Given the description of an element on the screen output the (x, y) to click on. 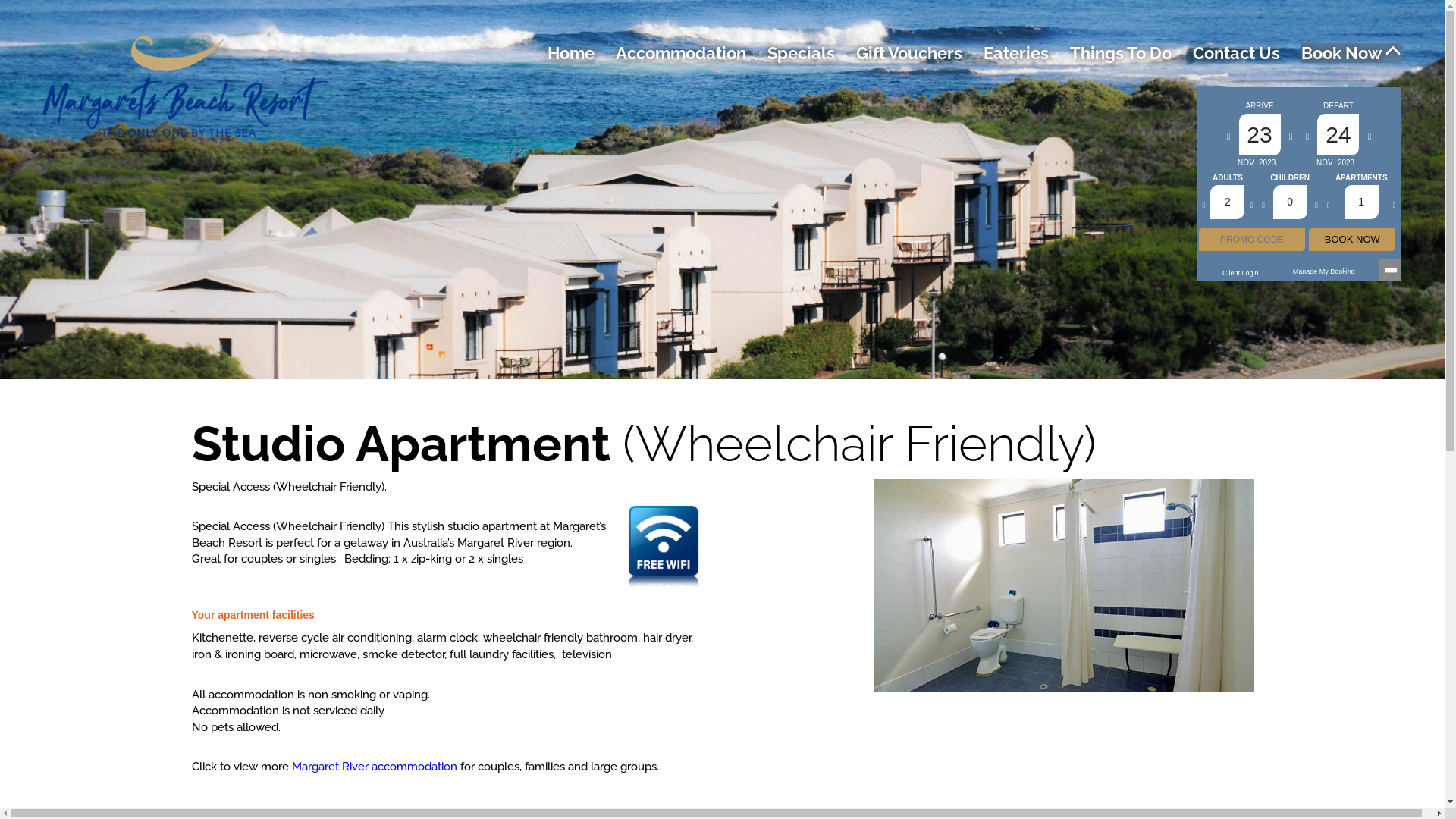
Gift Vouchers Element type: text (909, 52)
BOOK NOW Element type: text (1351, 239)
Client Login Element type: text (1240, 272)
Home Element type: text (570, 52)
Contact Us Element type: text (1236, 52)
Manage My Booking Element type: text (1323, 271)
Accommodation Element type: text (680, 52)
Specials Element type: text (800, 52)
Margaret River accommodation Element type: text (373, 766)
Things To Do Element type: text (1120, 52)
Eateries Element type: text (1015, 52)
Book Now Element type: text (1351, 52)
